Given the description of an element on the screen output the (x, y) to click on. 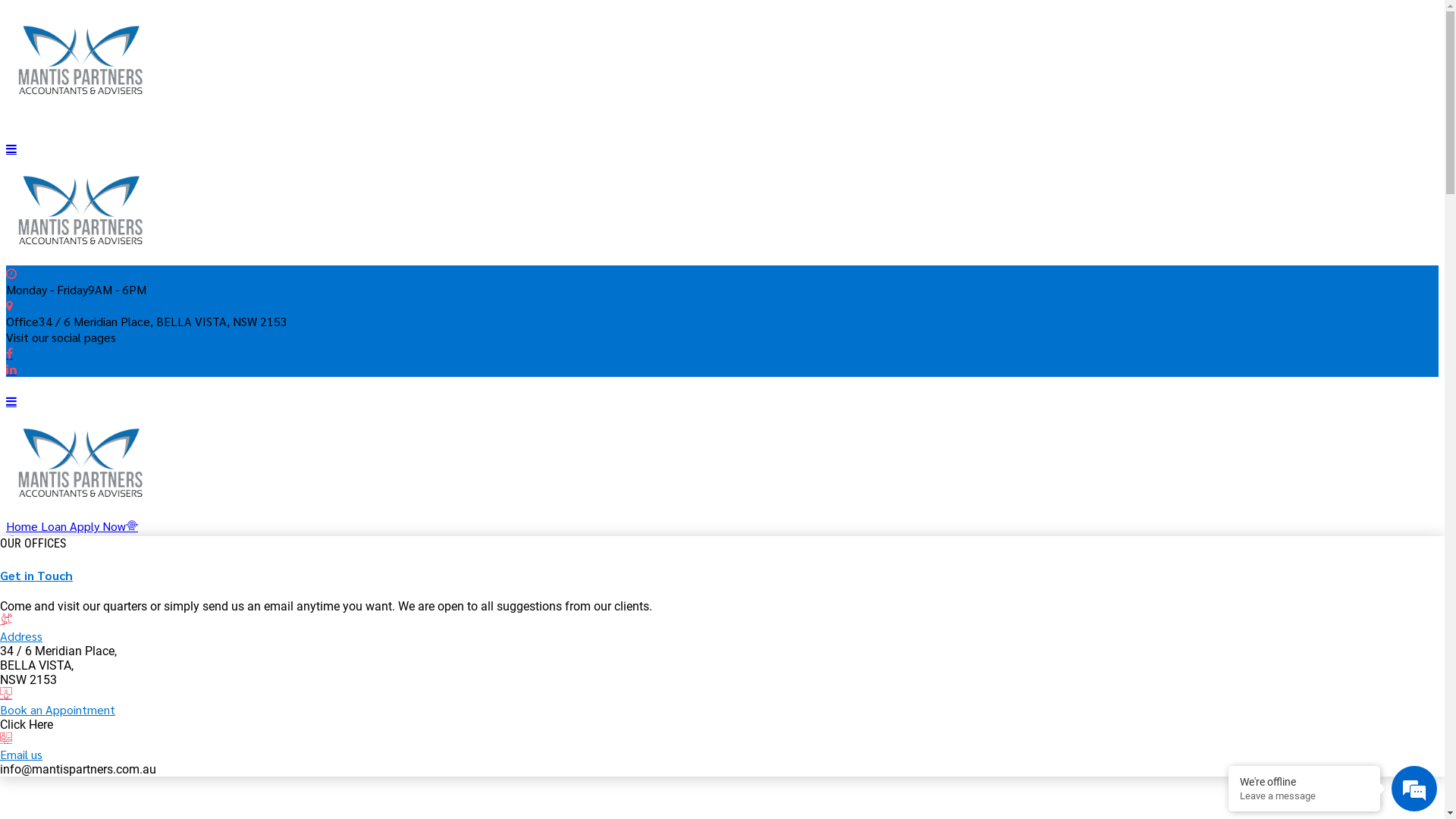
Home Element type: text (52, 630)
Book an Appointment Element type: text (57, 709)
Home Loan Apply Now Element type: text (72, 525)
Book an Appointment Element type: hover (6, 694)
About us Element type: text (59, 736)
Book an Appointment Element type: text (722, 549)
